Given the description of an element on the screen output the (x, y) to click on. 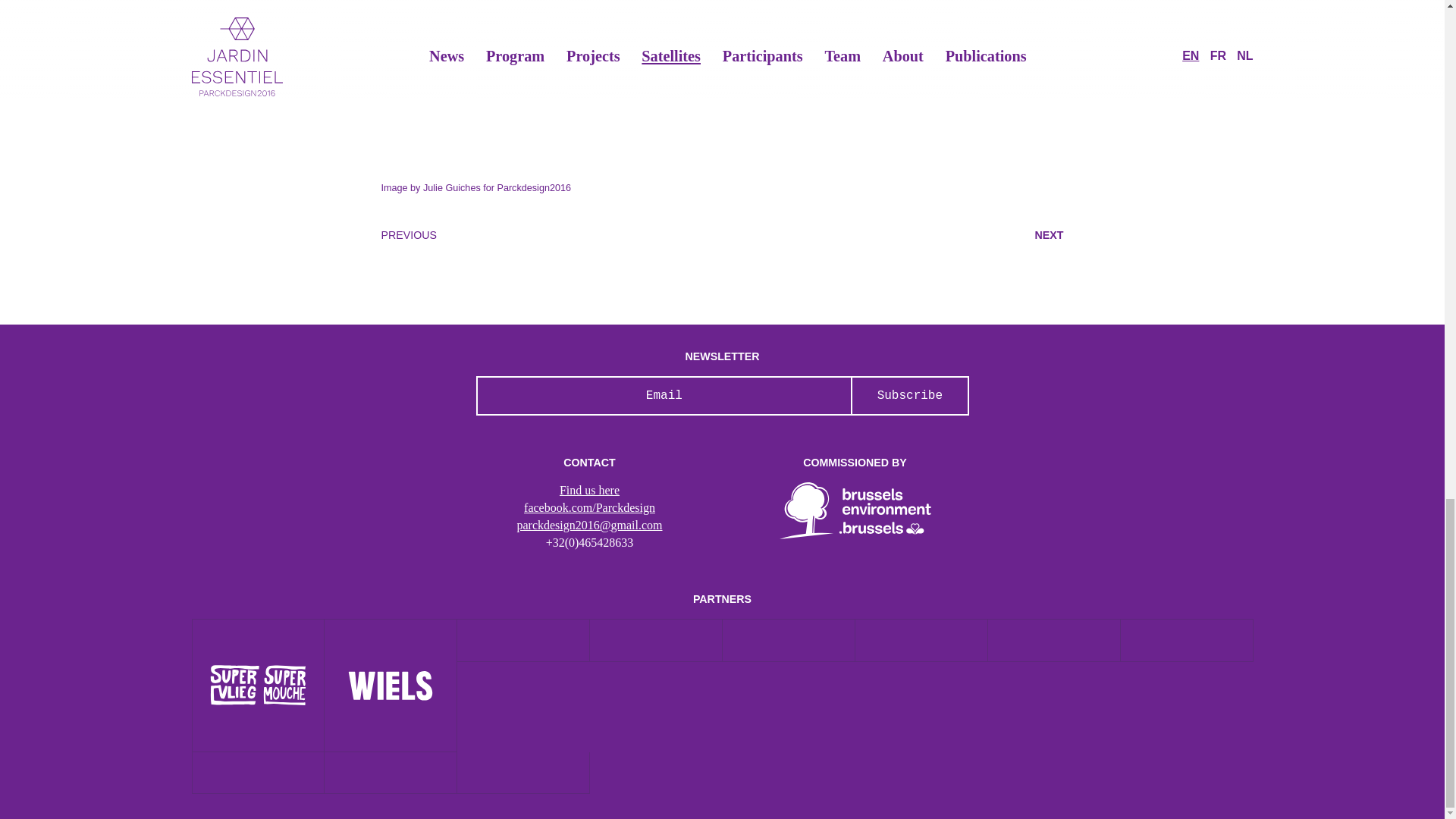
Subscribe (908, 395)
Find us here (589, 490)
PREVIOUS (407, 234)
NEXT (1049, 234)
Subscribe (908, 395)
